Given the description of an element on the screen output the (x, y) to click on. 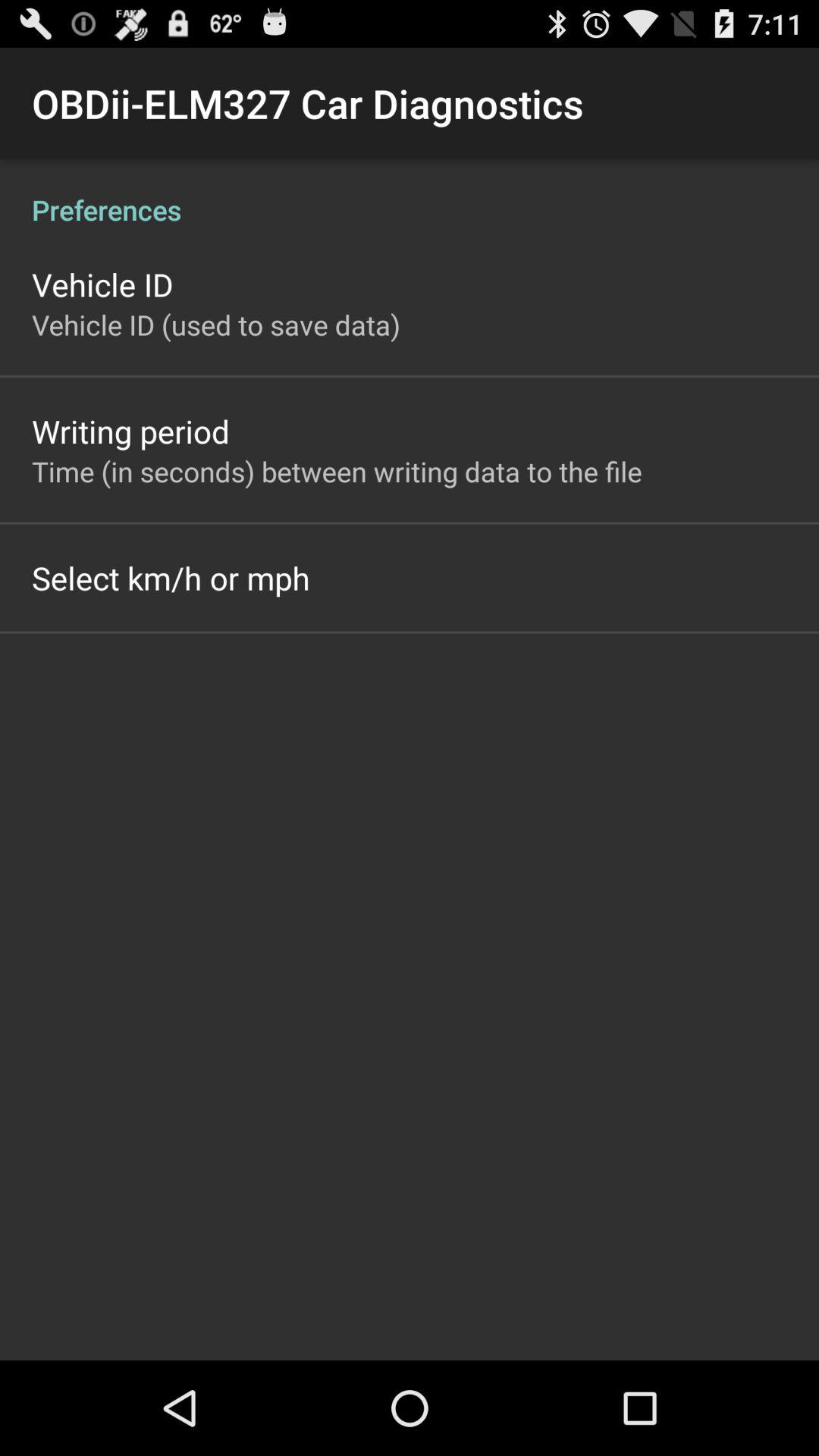
press select km h item (170, 577)
